Given the description of an element on the screen output the (x, y) to click on. 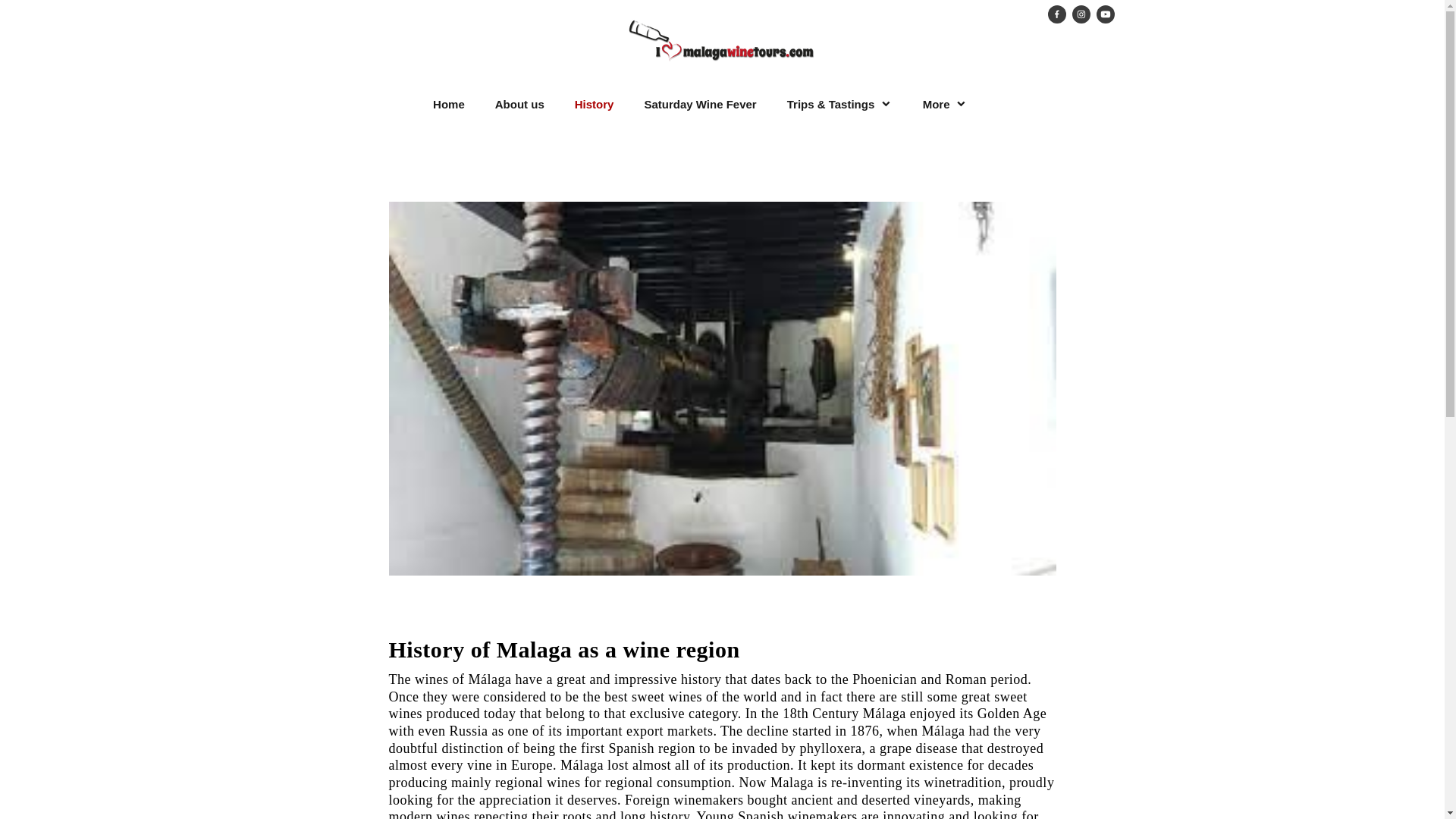
About us (519, 104)
History (593, 104)
Saturday Wine Fever (699, 104)
More (944, 104)
Home (448, 104)
